Given the description of an element on the screen output the (x, y) to click on. 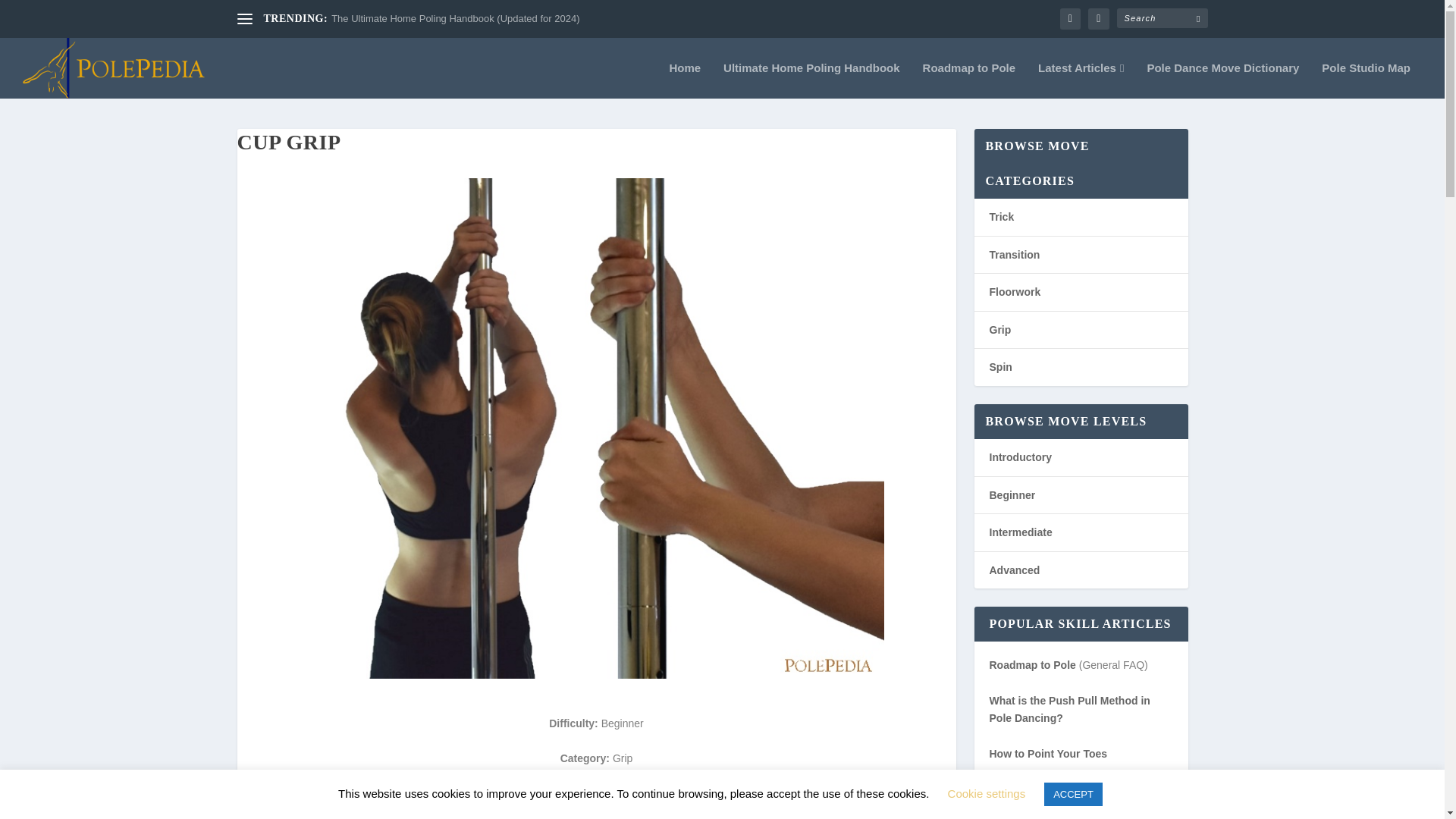
Pole Studio Map (1366, 80)
Search for: (1161, 17)
Ultimate Home Poling Handbook (811, 80)
Roadmap to Pole (969, 80)
Latest Articles (1081, 80)
Pole Dance Move Dictionary (1222, 80)
